Given the description of an element on the screen output the (x, y) to click on. 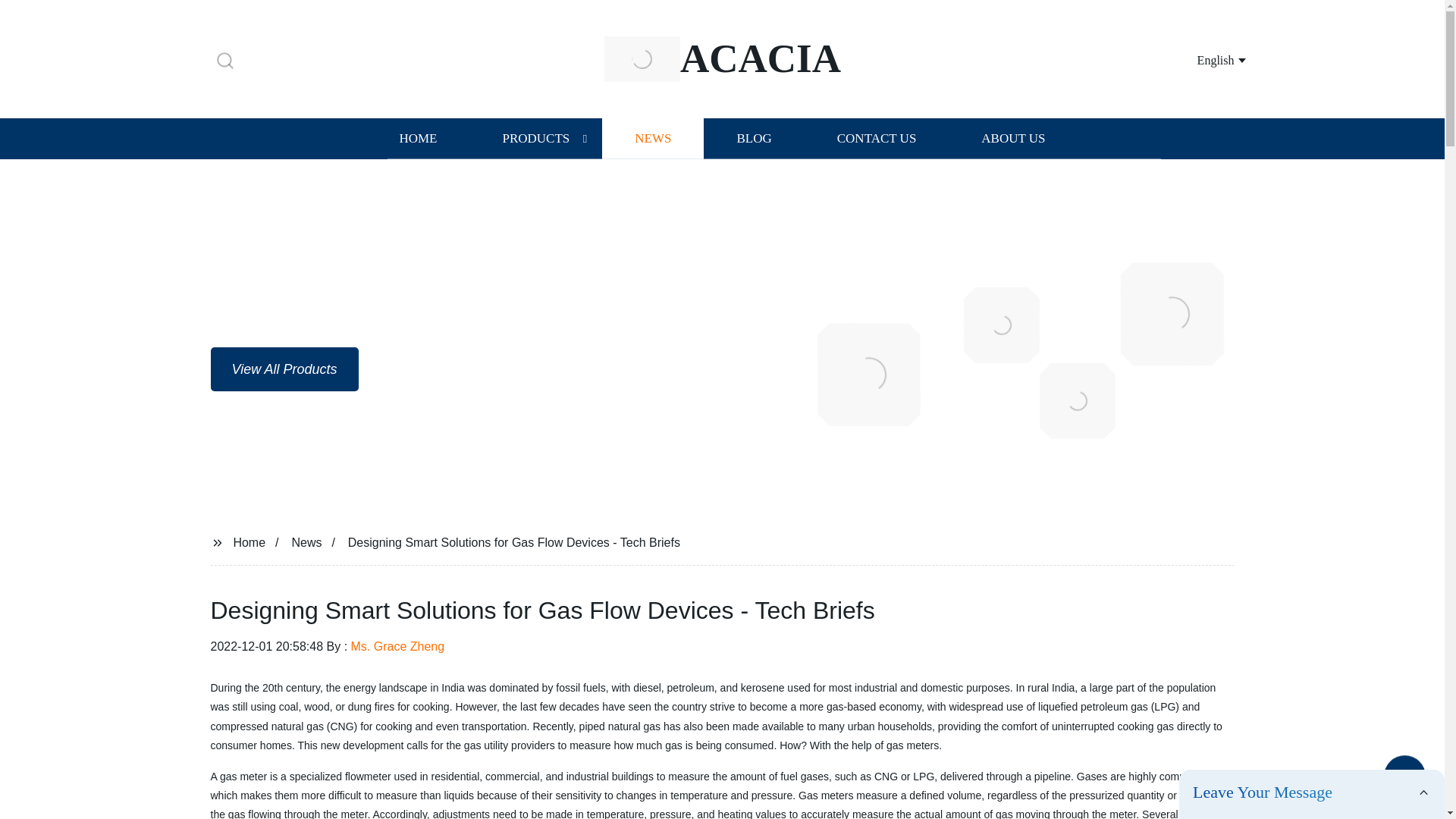
NEWS (652, 137)
Top (1404, 779)
News (306, 541)
Home (248, 541)
PRODUCTS (535, 137)
English (1203, 59)
BLOG (753, 137)
English (1203, 59)
HOME (417, 137)
ABOUT US (1013, 137)
